Given the description of an element on the screen output the (x, y) to click on. 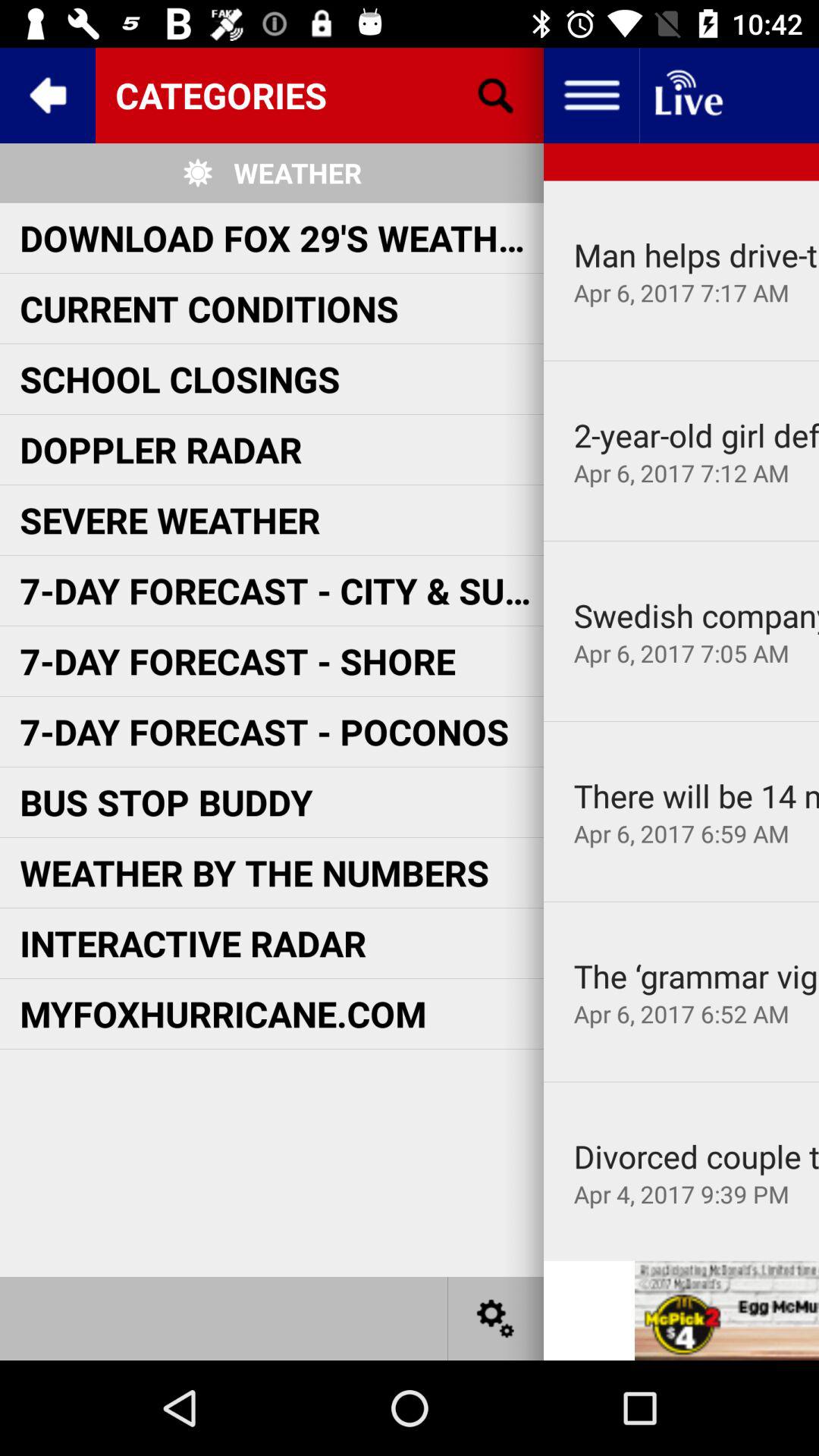
close menu (591, 95)
